Given the description of an element on the screen output the (x, y) to click on. 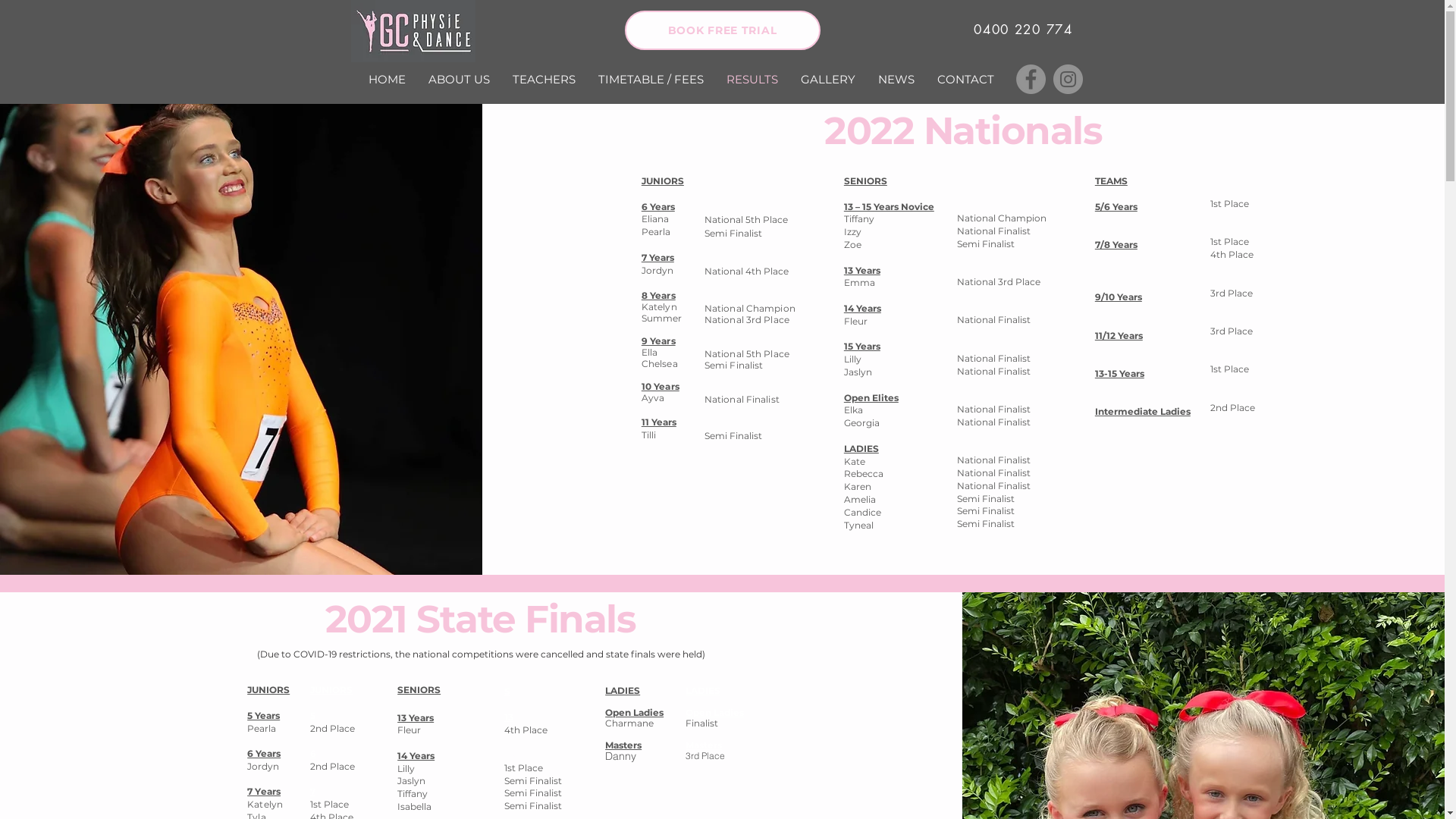
RESULTS Element type: text (751, 79)
TIMETABLE / FEES Element type: text (650, 79)
BOOK FREE TRIAL Element type: text (722, 30)
CONTACT Element type: text (964, 79)
TEACHERS Element type: text (543, 79)
HOME Element type: text (386, 79)
NEWS Element type: text (895, 79)
ABOUT US Element type: text (459, 79)
GALLERY Element type: text (827, 79)
